Given the description of an element on the screen output the (x, y) to click on. 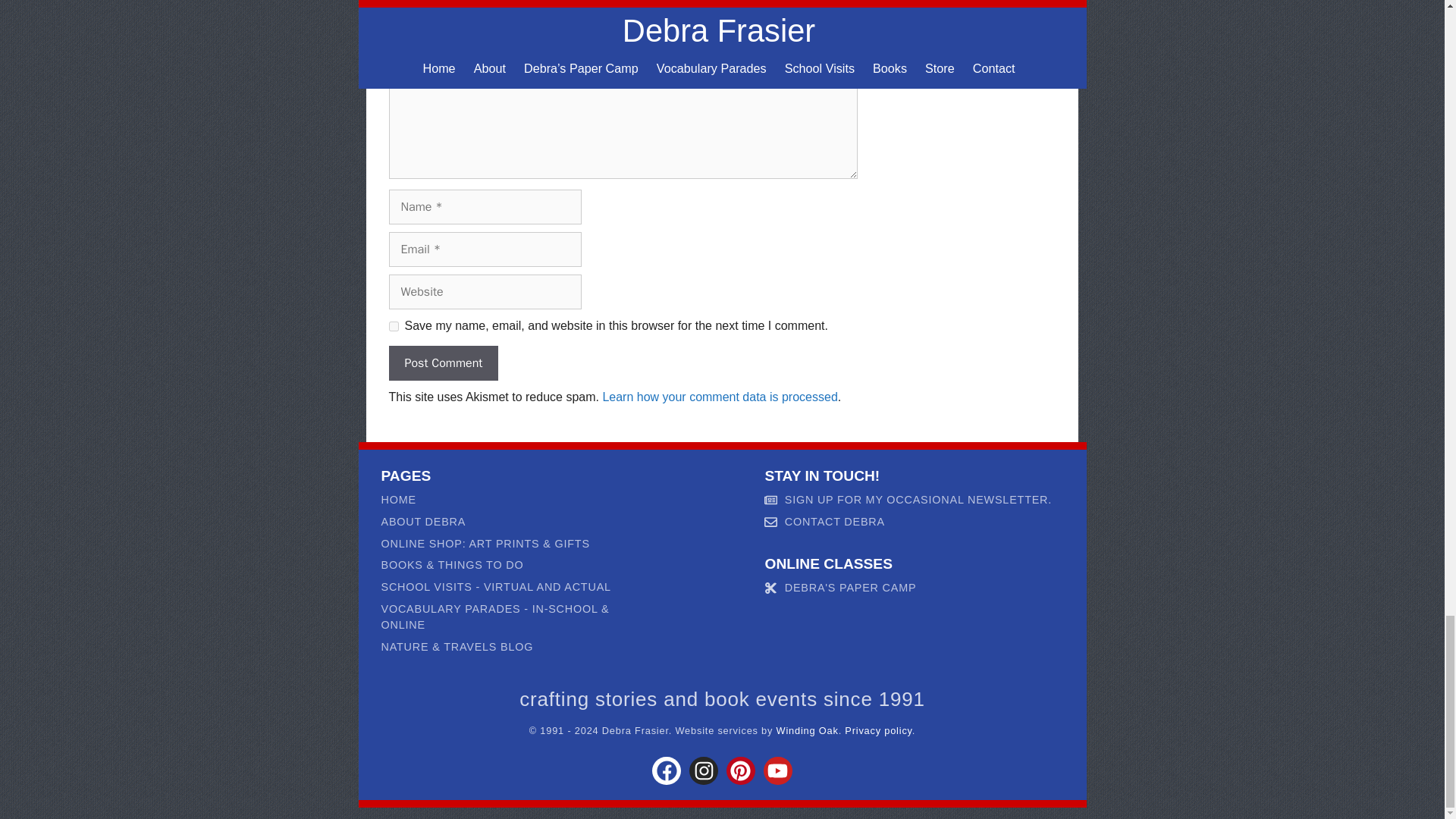
yes (392, 326)
Post Comment (442, 362)
Post Comment (442, 362)
